Given the description of an element on the screen output the (x, y) to click on. 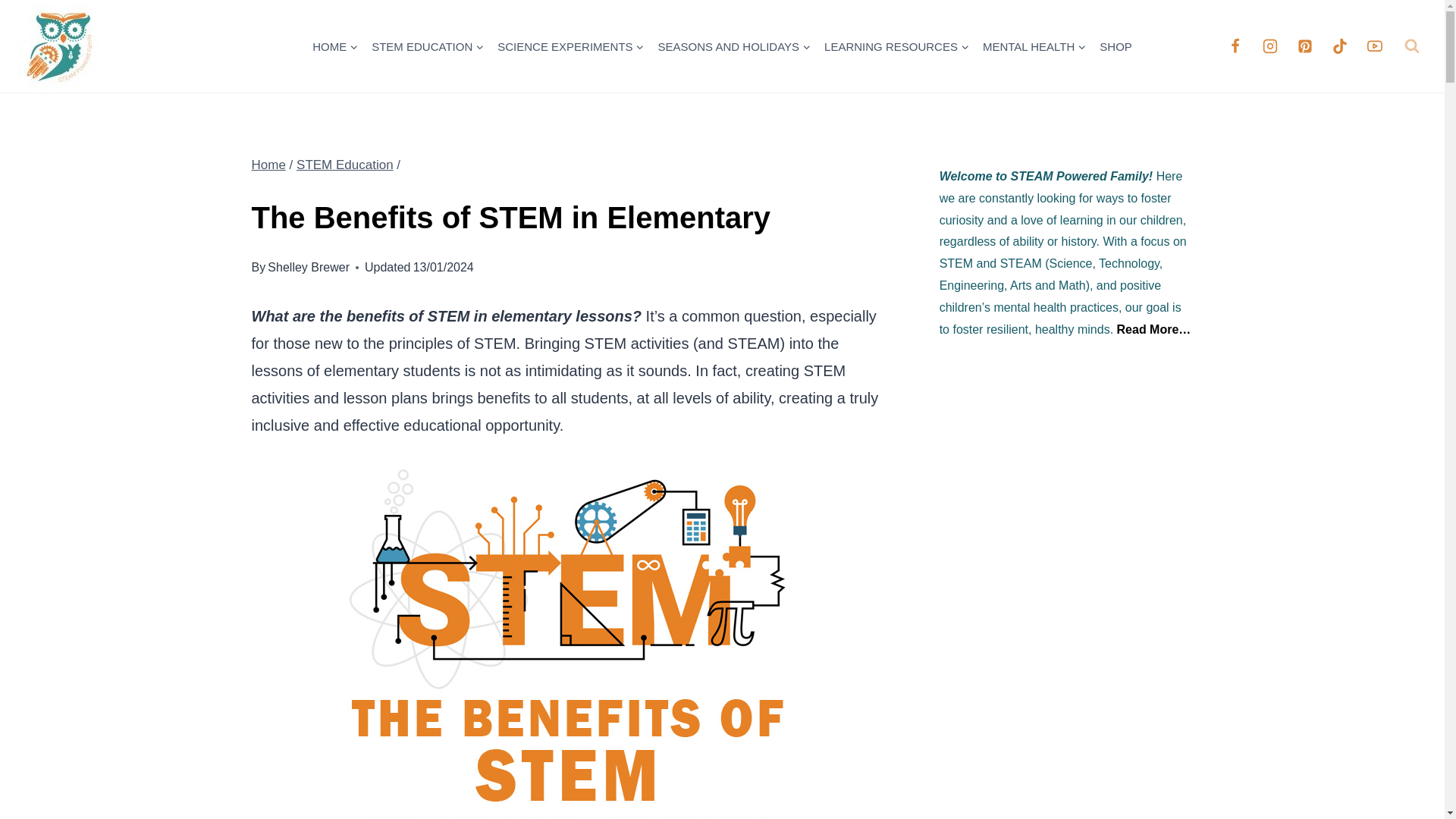
STEM EDUCATION (427, 45)
HOME (335, 45)
SEASONS AND HOLIDAYS (733, 45)
SCIENCE EXPERIMENTS (570, 45)
